Given the description of an element on the screen output the (x, y) to click on. 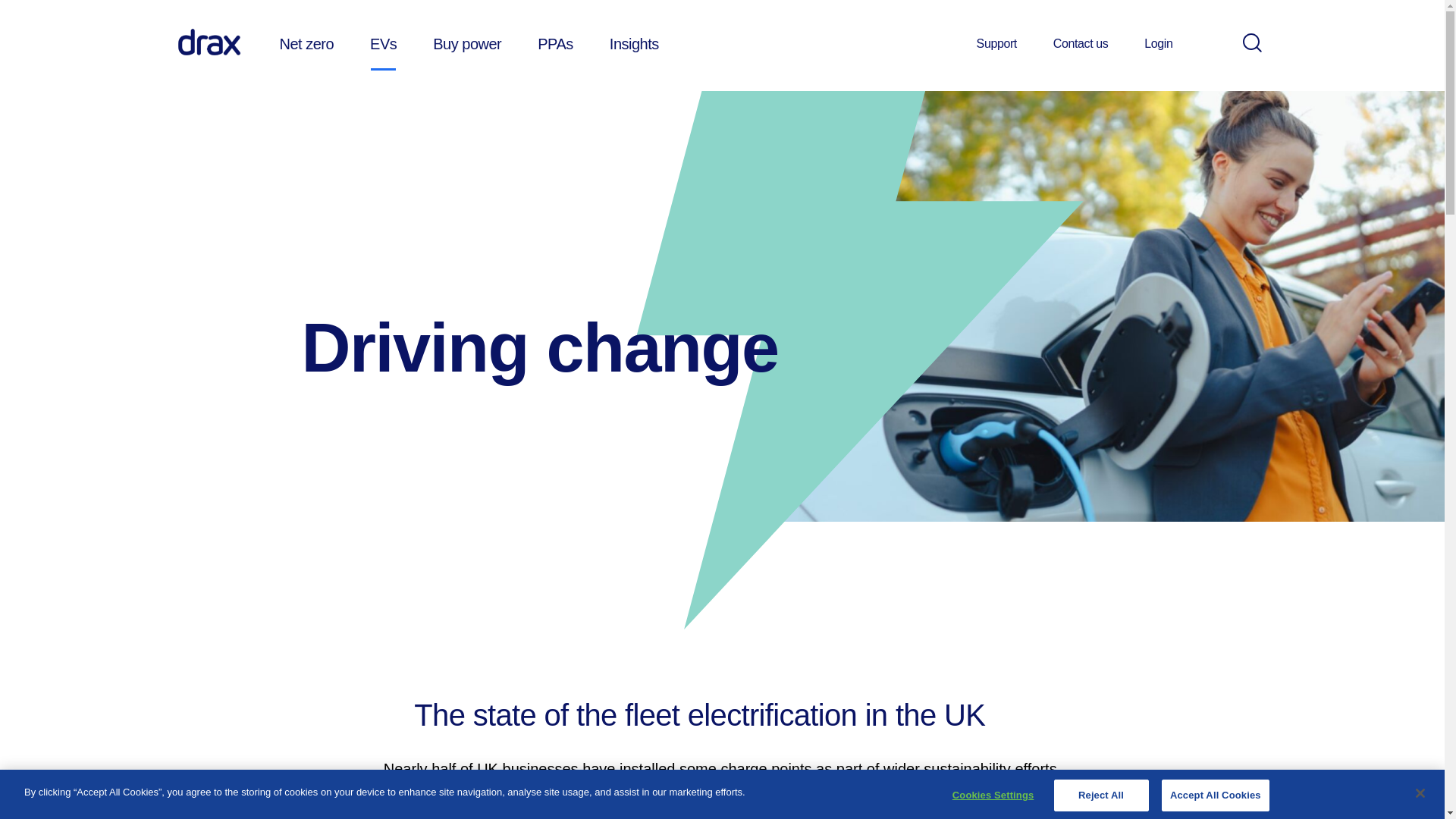
Contact us (1080, 43)
Search (1251, 42)
Insights (634, 43)
Net zero (306, 43)
Support (996, 43)
Buy power (466, 43)
